Given the description of an element on the screen output the (x, y) to click on. 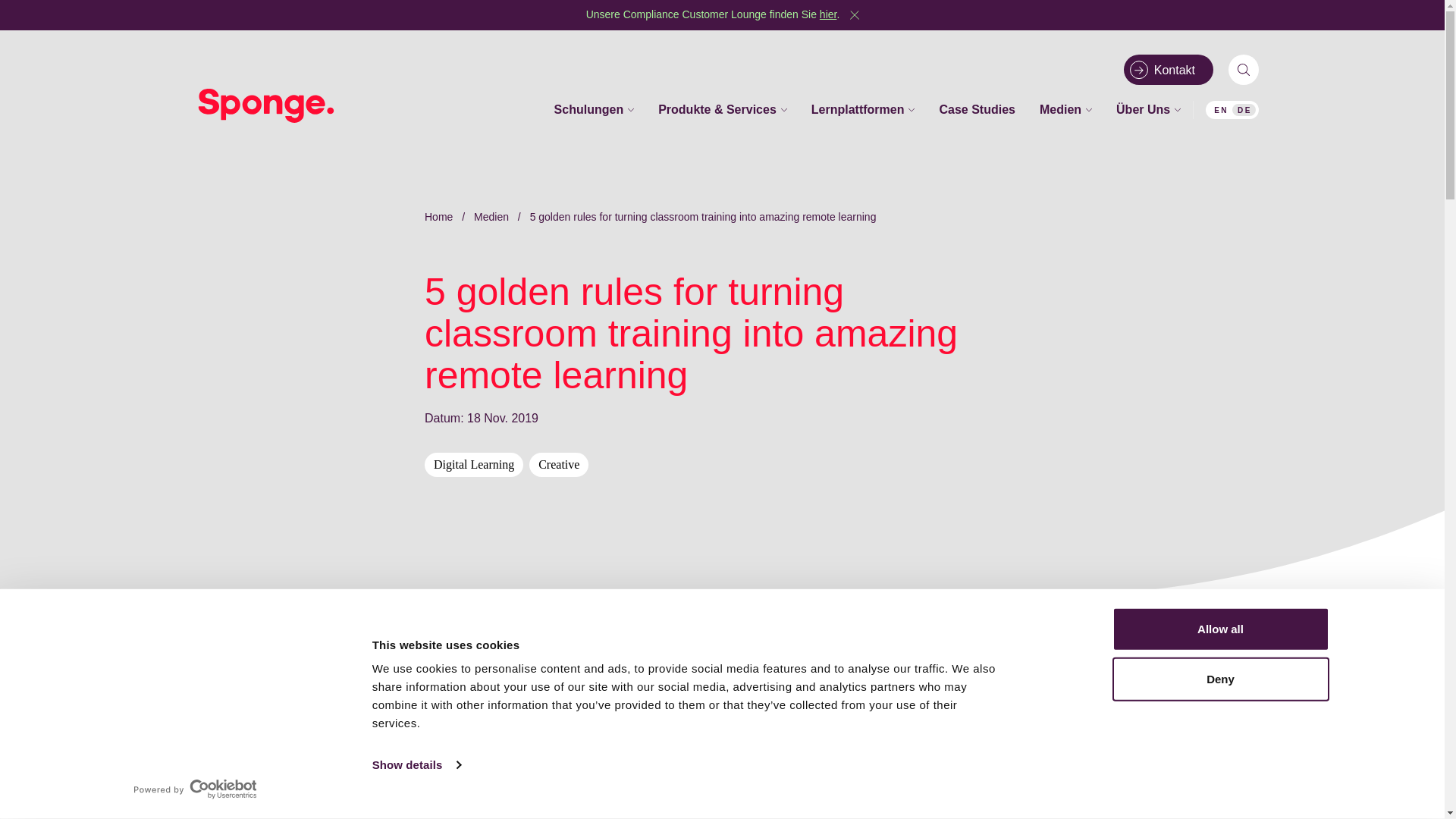
Show details (416, 764)
